Given the description of an element on the screen output the (x, y) to click on. 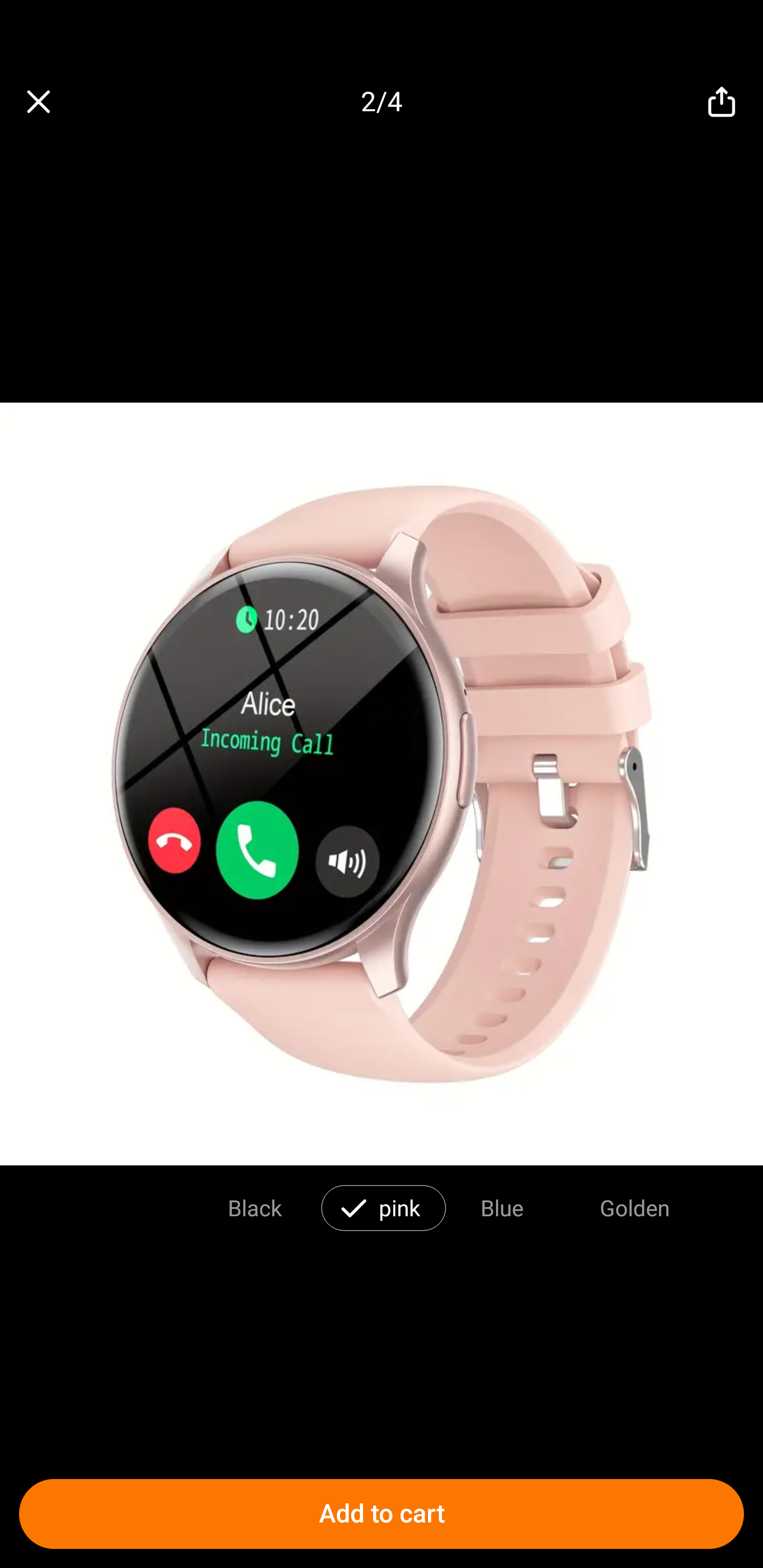
share (721, 101)
Black (254, 1207)
pink (399, 1207)
Blue (501, 1207)
Golden (634, 1207)
Add to cart (381, 1513)
